Given the description of an element on the screen output the (x, y) to click on. 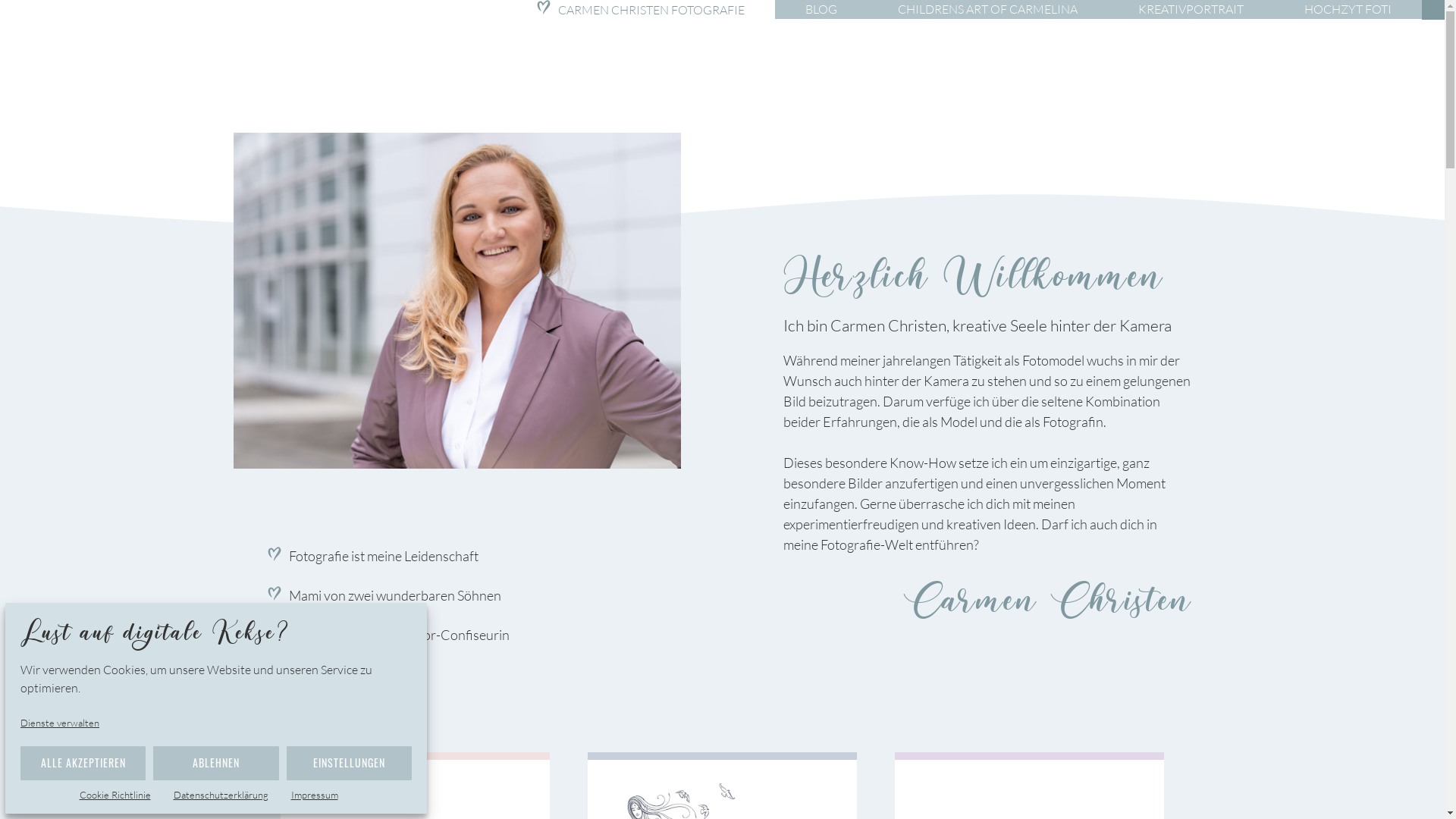
Dienste verwalten Element type: text (67, 723)
EINSTELLUNGEN Element type: text (348, 763)
HOCHZYT FOTI Element type: text (1347, 9)
Cookie Richtlinie Element type: text (121, 794)
KREATIVPORTRAIT Element type: text (1190, 9)
ABLEHNEN Element type: text (215, 763)
Impressum Element type: text (322, 794)
CHILDRENS ART OF CARMELINA Element type: text (987, 9)
ALLE AKZEPTIEREN Element type: text (82, 763)
CARMEN CHRISTEN FOTOGRAFIE Element type: text (640, 9)
BLOG Element type: text (821, 9)
